Given the description of an element on the screen output the (x, y) to click on. 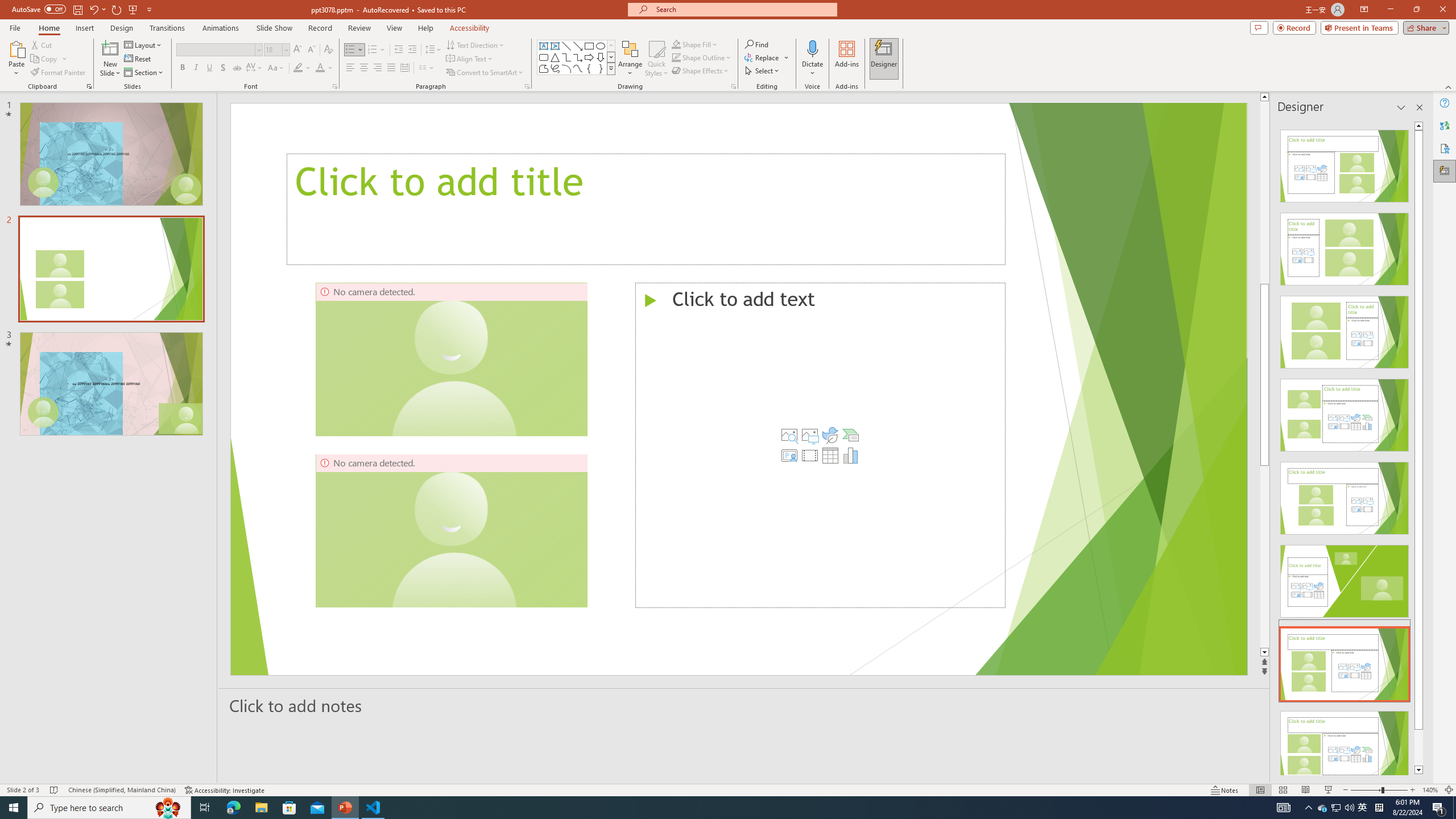
Camera 5, No camera detected. (451, 530)
